Given the description of an element on the screen output the (x, y) to click on. 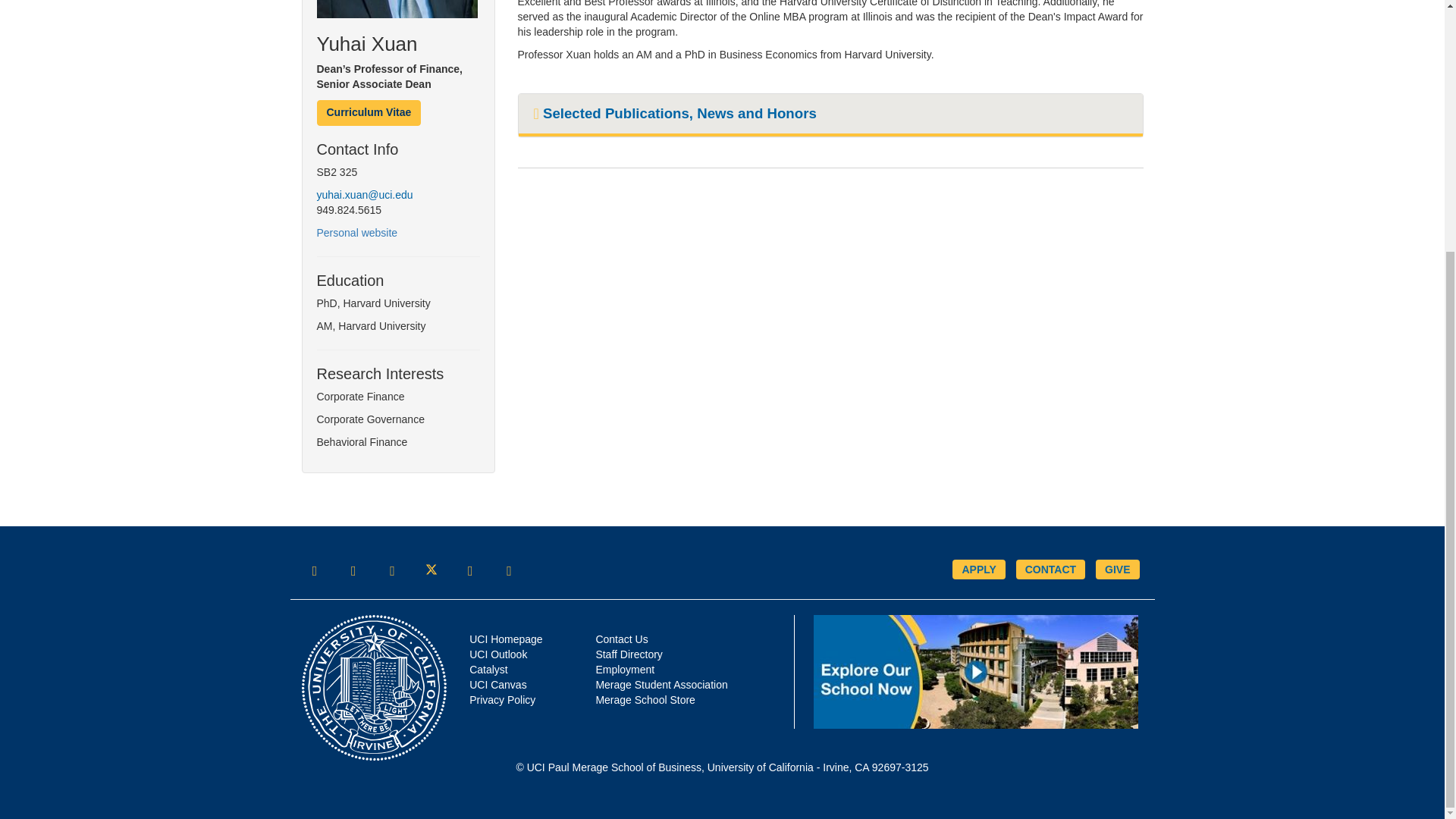
Yuhai Xuan CV (369, 112)
Yuhai Xuan personal website (360, 232)
Email Yuhai Xuan (368, 194)
Contact Us (1050, 569)
Give (1117, 569)
Apply (978, 569)
